Given the description of an element on the screen output the (x, y) to click on. 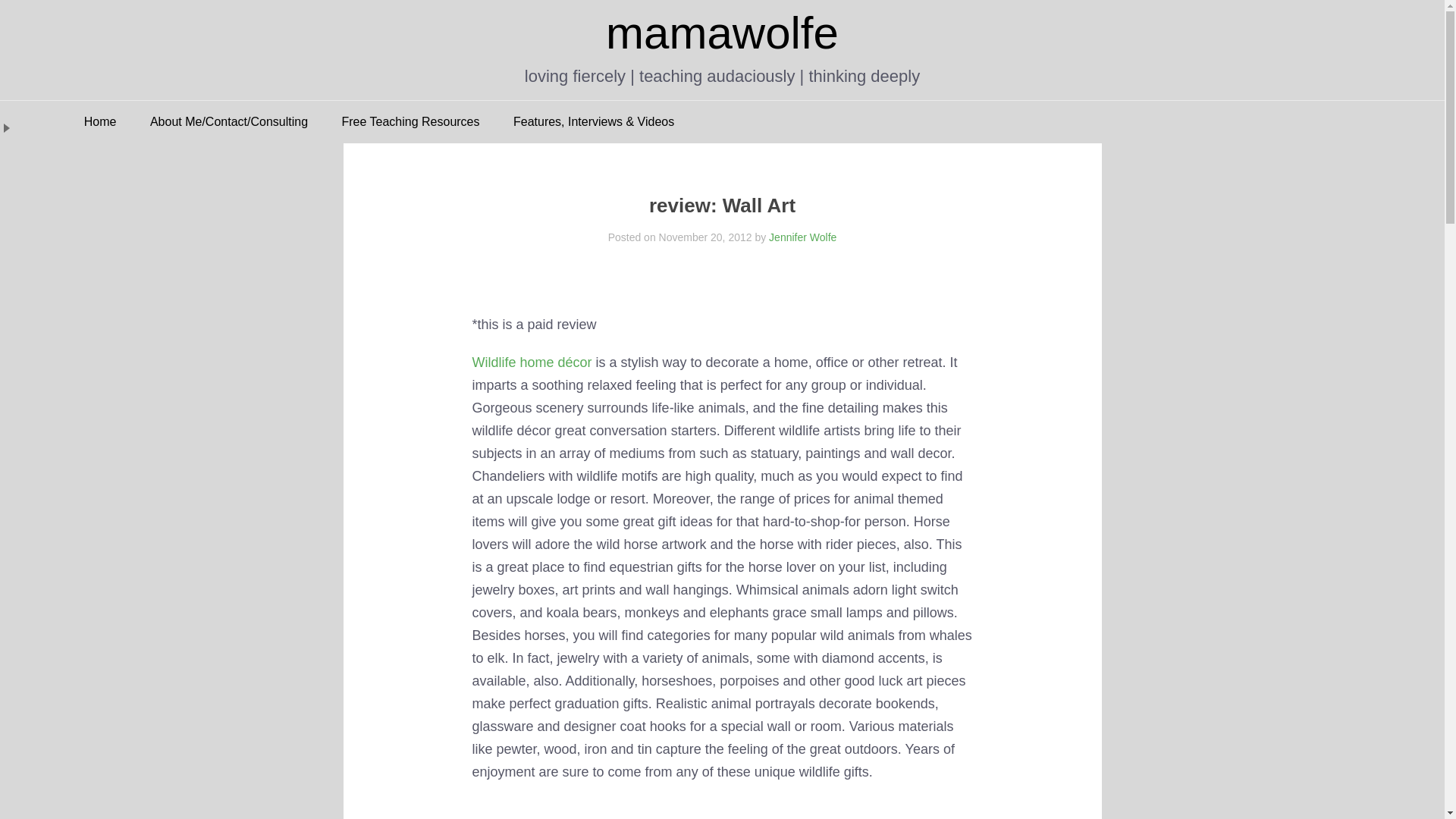
Home (100, 121)
review: Wall Art (721, 205)
Free Teaching Resources (410, 121)
Jennifer Wolfe (801, 236)
Posts by Jennifer Wolfe (801, 236)
